Given the description of an element on the screen output the (x, y) to click on. 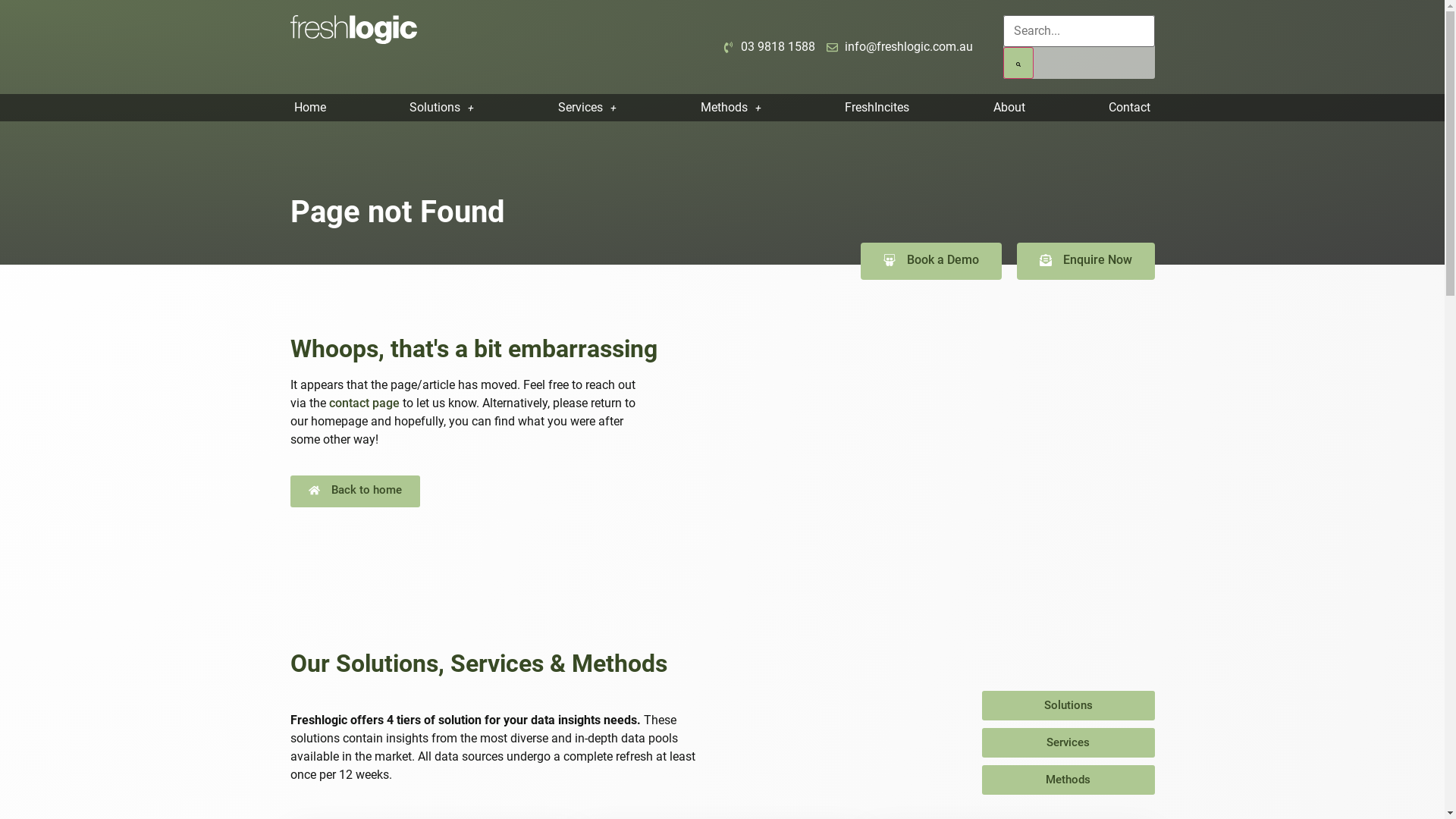
Book a Demo Element type: text (930, 260)
Solutions Element type: text (1067, 705)
Methods Element type: text (1067, 779)
contact page Element type: text (364, 402)
info@freshlogic.com.au Element type: text (899, 46)
Services Element type: text (587, 107)
Home Element type: text (309, 107)
FreshIncites Element type: text (876, 107)
Solutions Element type: text (441, 107)
Methods Element type: text (730, 107)
About Element type: text (1008, 107)
03 9818 1588 Element type: text (768, 46)
Back to home Element type: text (354, 491)
Enquire Now Element type: text (1085, 260)
Services Element type: text (1067, 742)
Contact Element type: text (1129, 107)
